Given the description of an element on the screen output the (x, y) to click on. 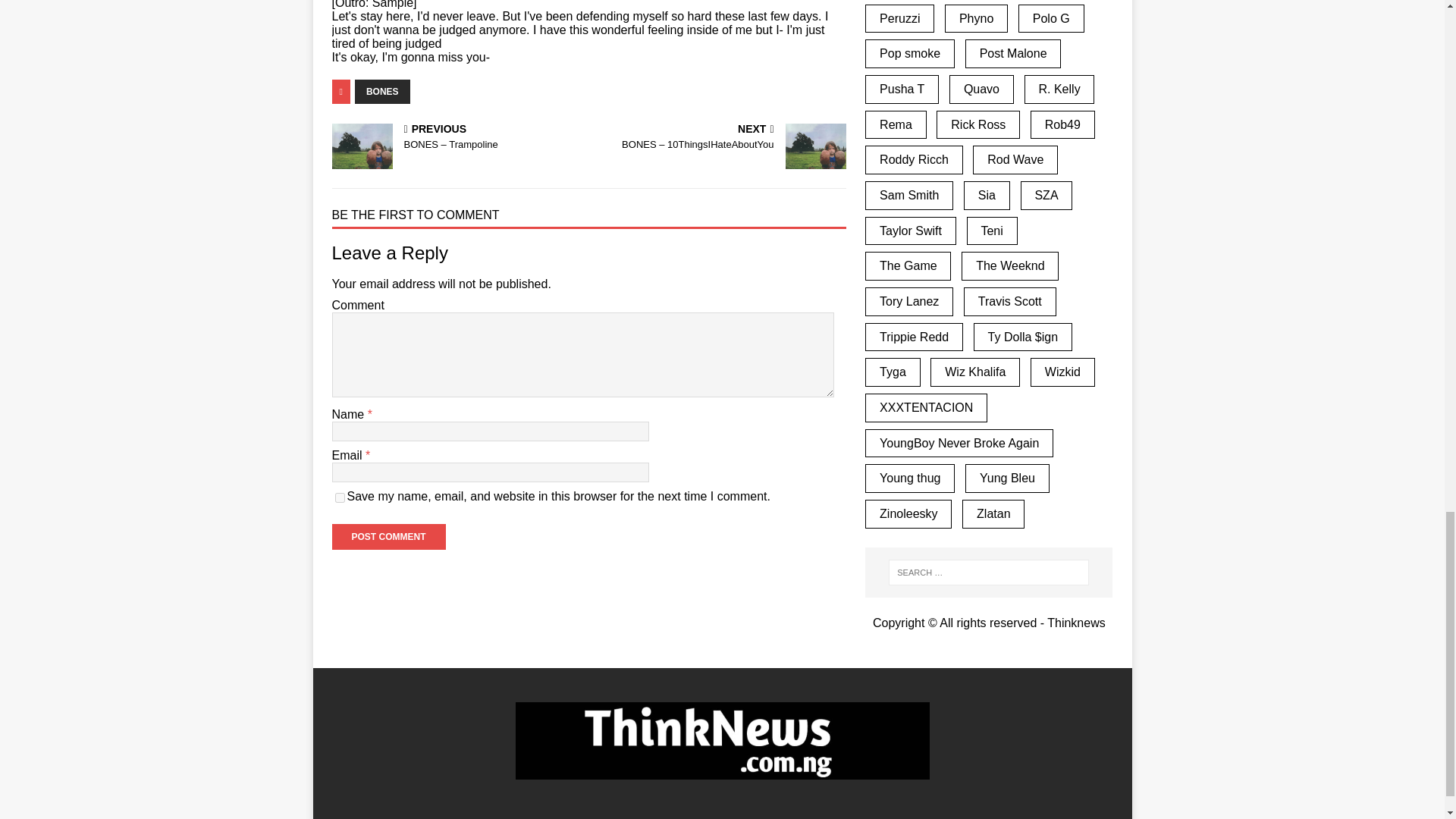
yes (339, 497)
Post Comment (388, 536)
BONES (382, 91)
Post Comment (388, 536)
